Given the description of an element on the screen output the (x, y) to click on. 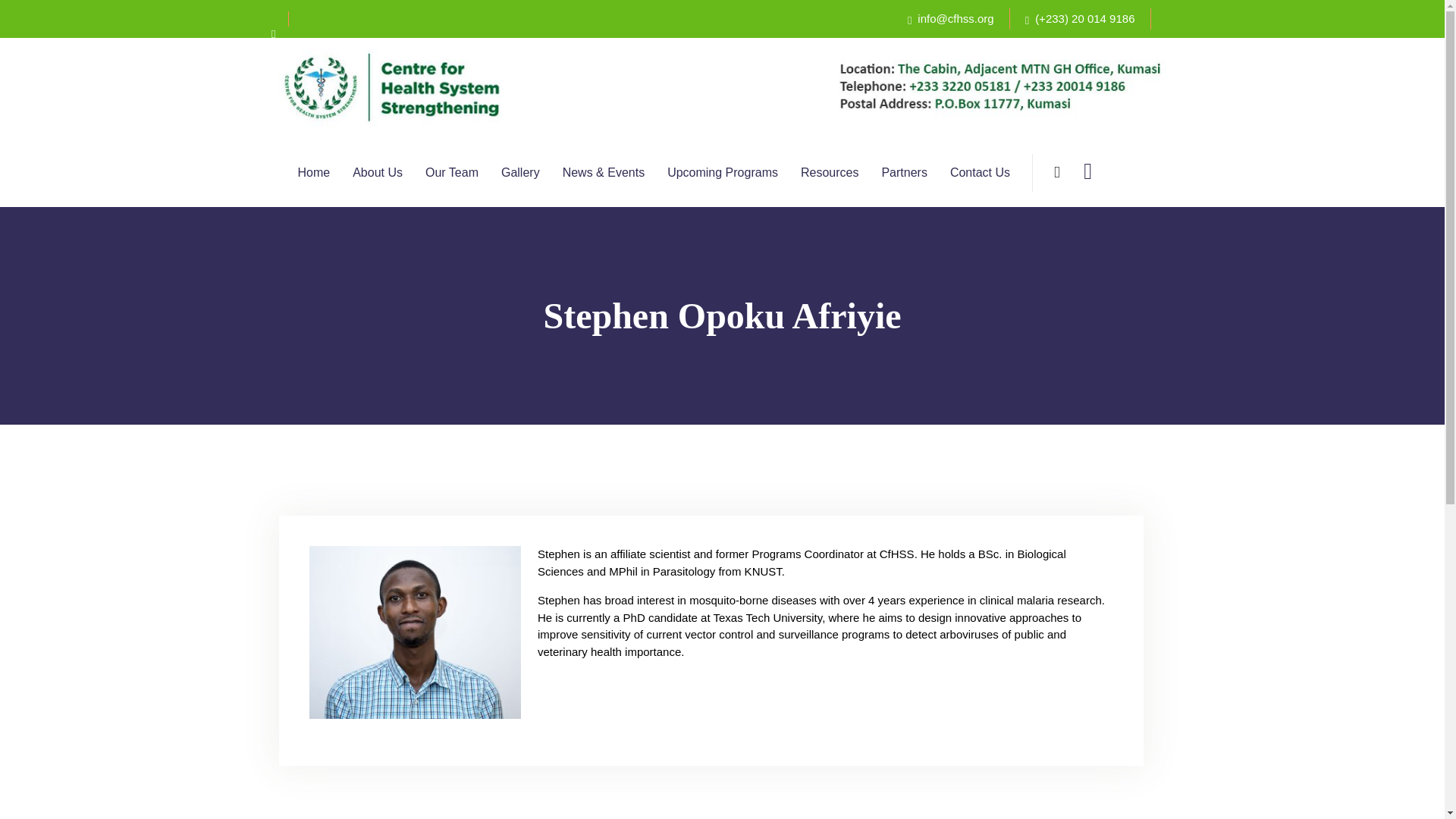
Search Now! (1004, 253)
Contact Us (980, 173)
Upcoming Programs (721, 173)
Gallery (520, 173)
About Us (377, 173)
Partners (903, 173)
Resources (829, 173)
Our Team (452, 173)
Home (313, 173)
